Given the description of an element on the screen output the (x, y) to click on. 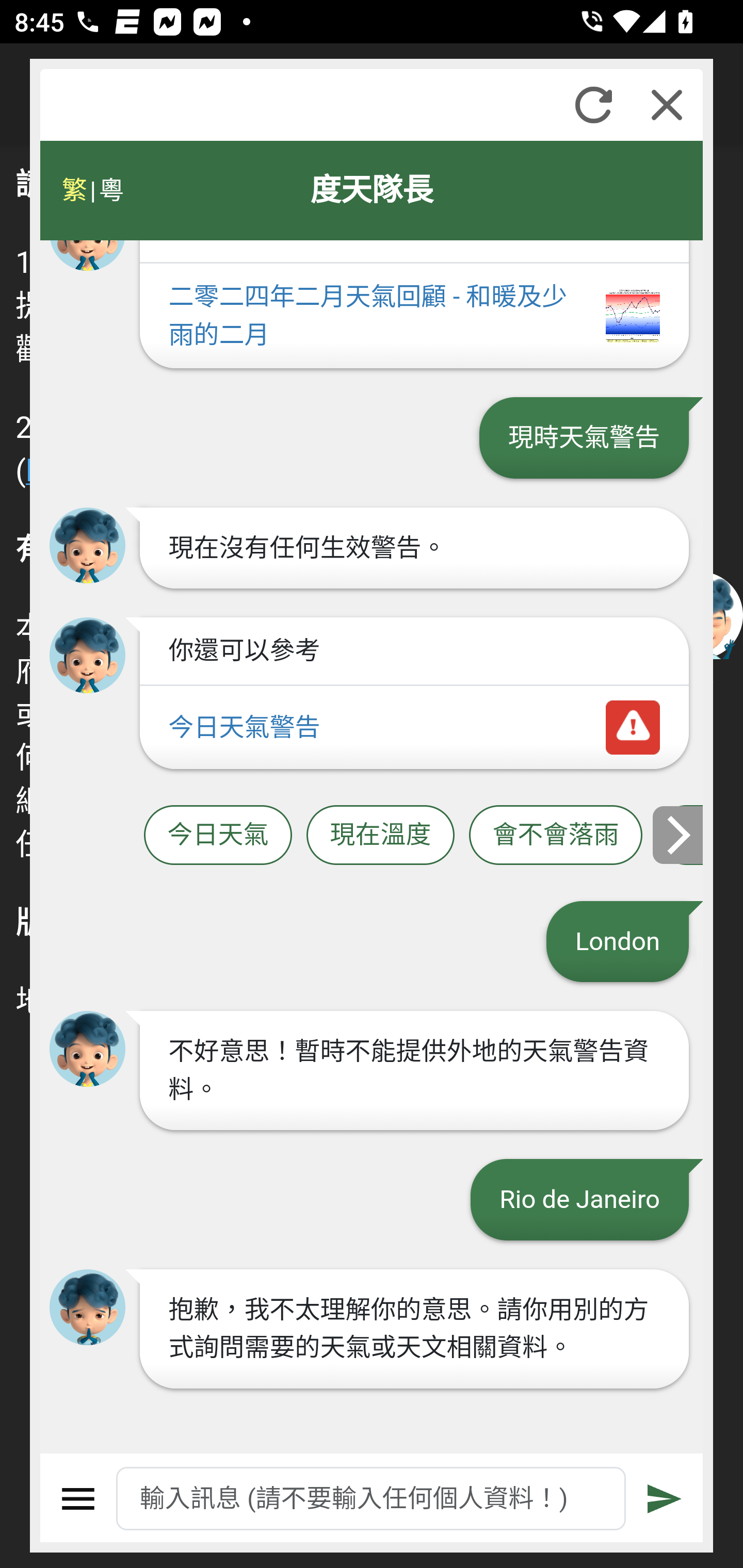
重新整理 (593, 104)
關閉 (666, 104)
繁 (73, 190)
粵 (110, 190)
二零二四年二月天氣回顧 - 和暖及少雨的二月 (413, 316)
今日天氣警告 (413, 727)
今日天氣 (217, 835)
現在溫度 (380, 835)
會不會落雨 (555, 835)
下一張 (678, 833)
選單 (78, 1498)
遞交 (665, 1498)
